Given the description of an element on the screen output the (x, y) to click on. 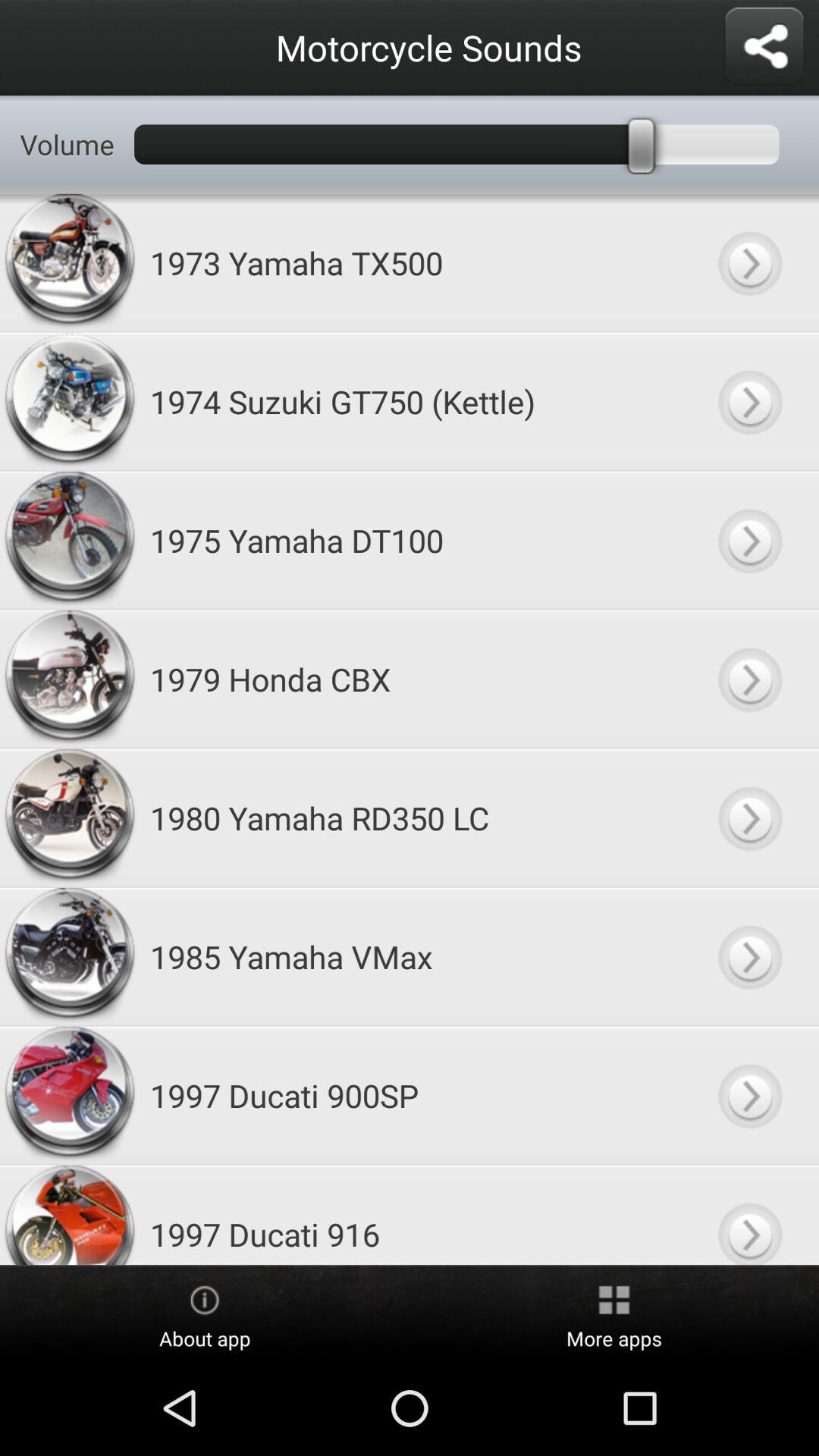
listen to this motorcycle (749, 262)
